Given the description of an element on the screen output the (x, y) to click on. 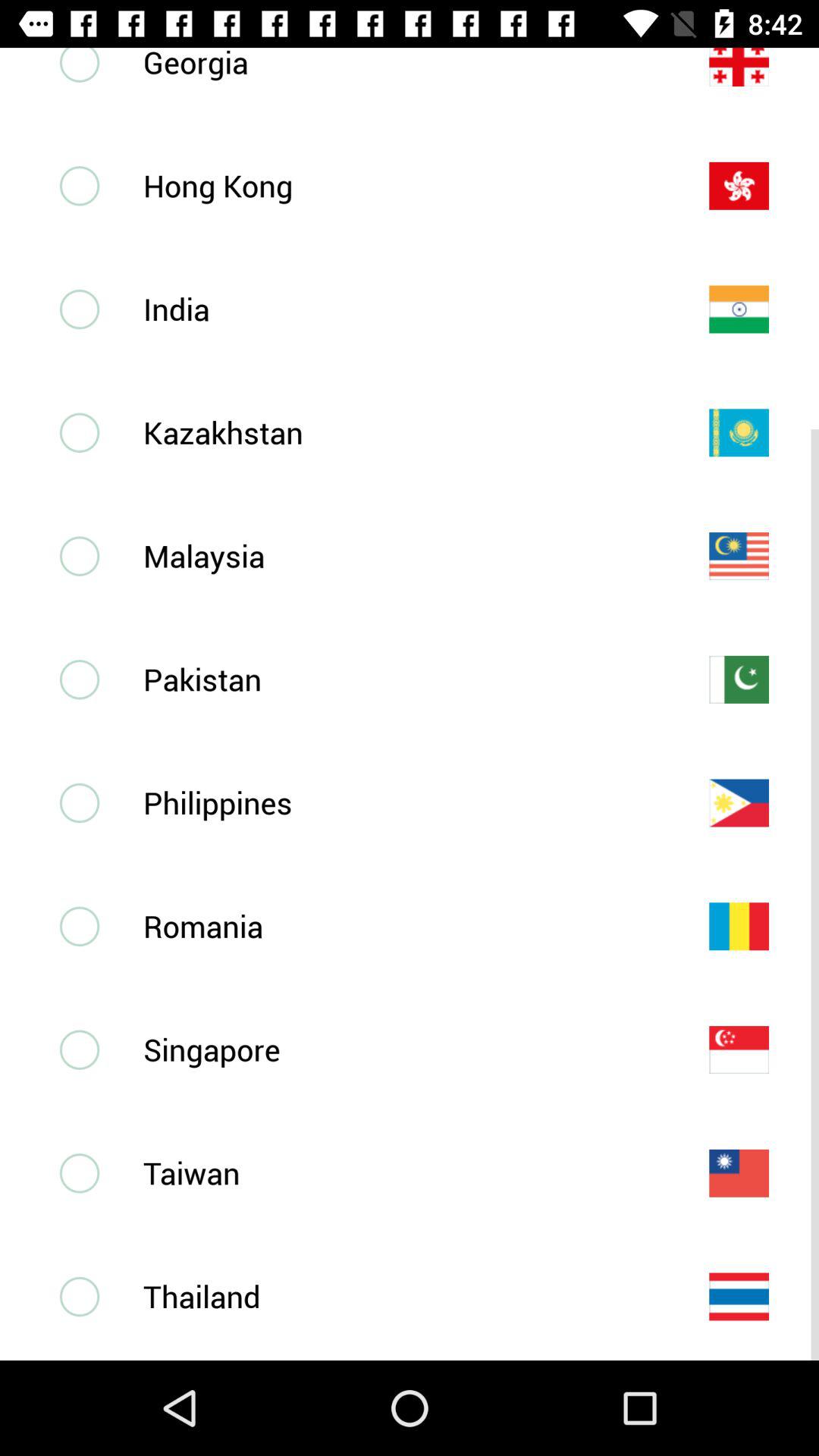
jump until georgia (401, 64)
